Given the description of an element on the screen output the (x, y) to click on. 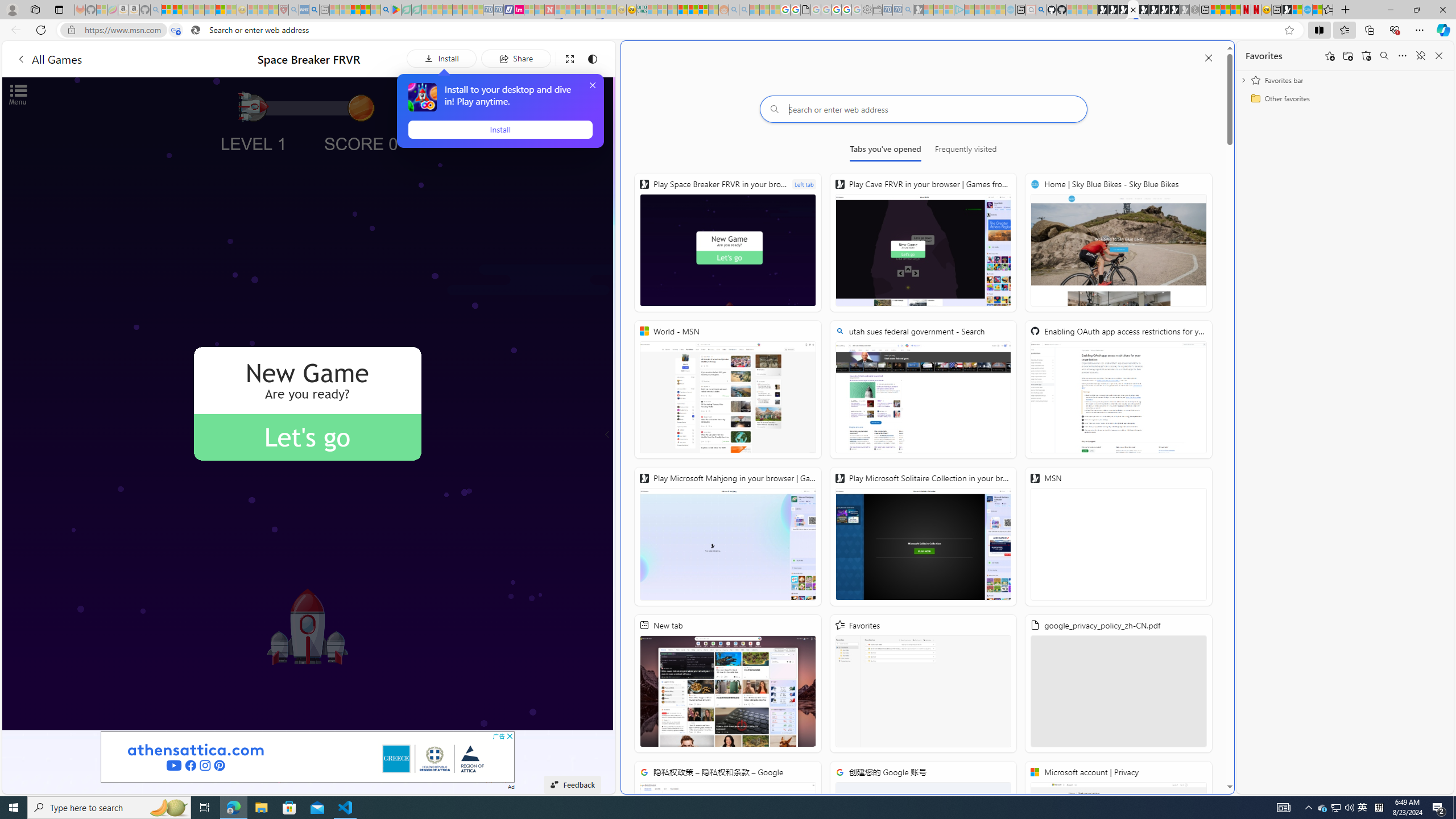
All Games (113, 58)
Unpin favorites (1420, 55)
Local - MSN - Sleeping (273, 9)
